Given the description of an element on the screen output the (x, y) to click on. 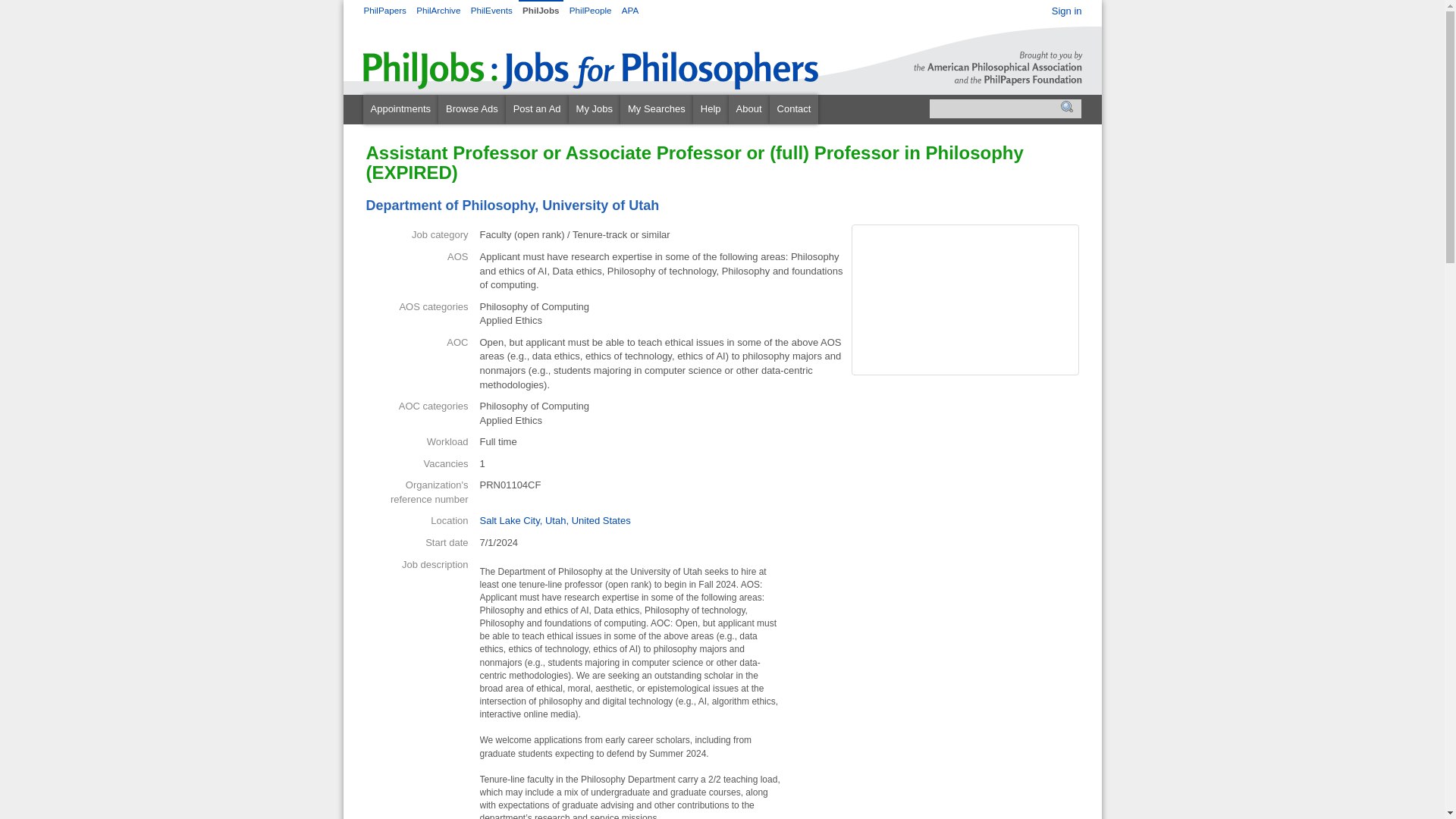
PhilEvents (492, 9)
Post an Ad (537, 109)
Salt Lake City, Utah, United States (554, 520)
My Jobs (594, 109)
Sign in (1066, 10)
PhilPeople (591, 9)
PhilPapers (385, 9)
APA (629, 9)
Help (711, 109)
My Searches (656, 109)
Contact (794, 109)
About (749, 109)
PhilArchive (439, 9)
Appointments (400, 109)
Browse Ads (471, 109)
